Given the description of an element on the screen output the (x, y) to click on. 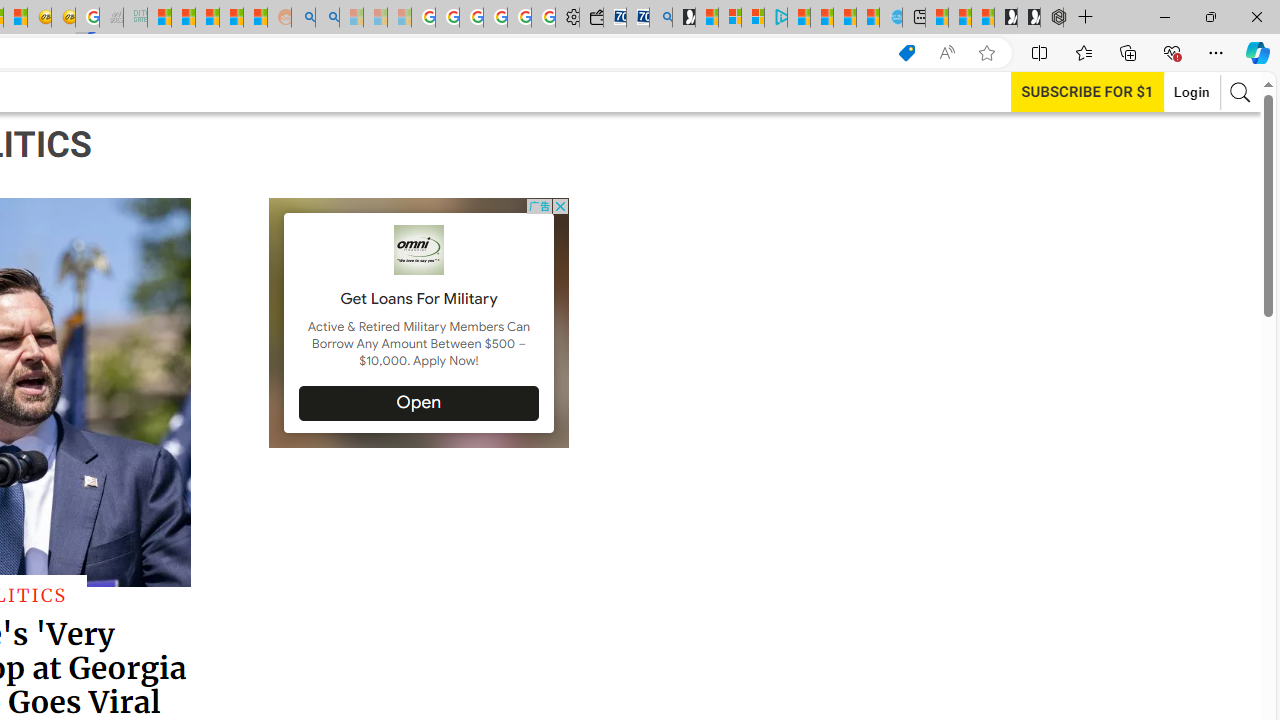
Utah sues federal government - Search (327, 17)
Wallet (590, 17)
Open (419, 403)
Subscribe to our service (1087, 91)
